Given the description of an element on the screen output the (x, y) to click on. 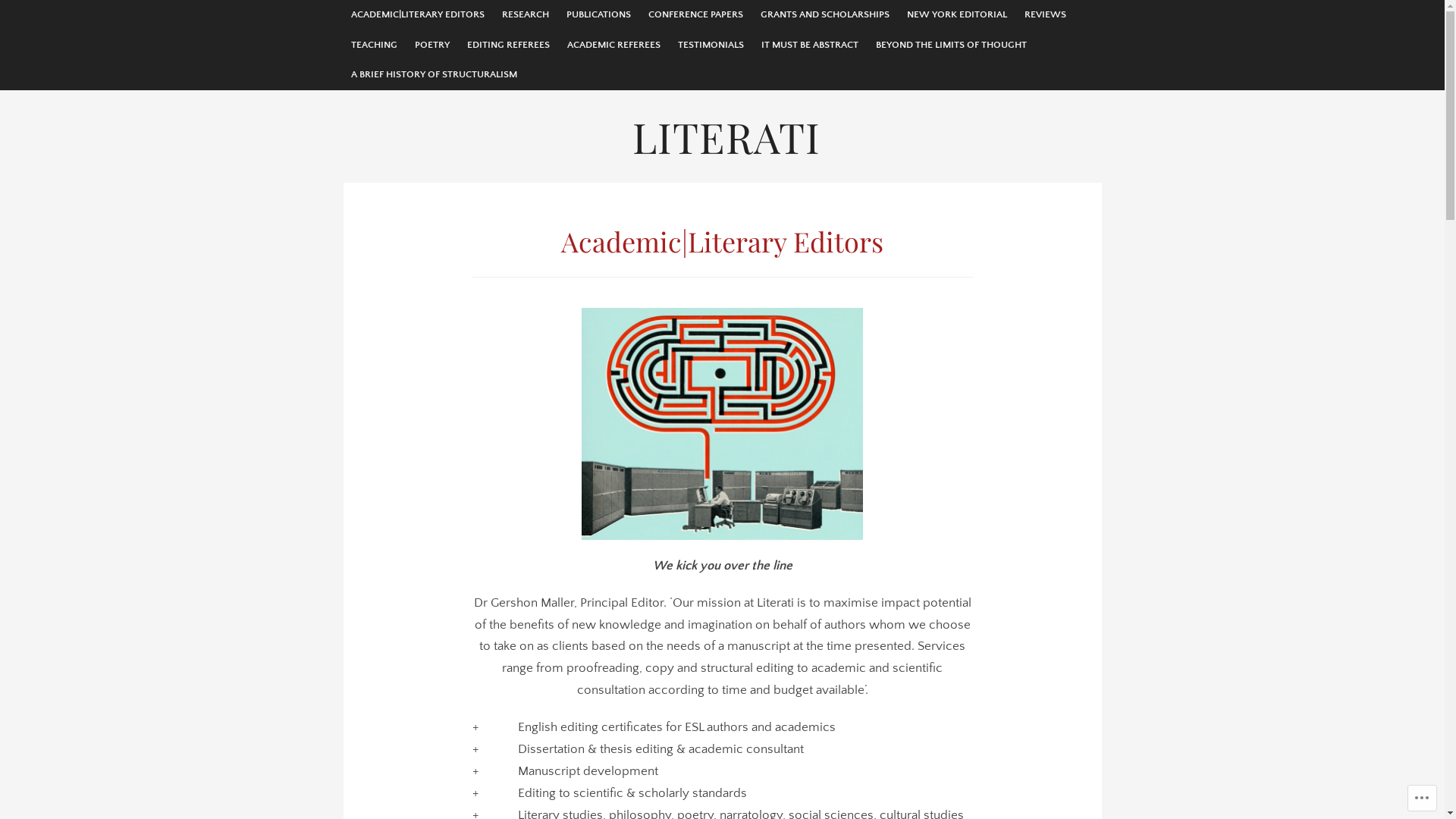
POETRY Element type: text (431, 45)
NEW YORK EDITORIAL Element type: text (956, 14)
ACADEMIC REFEREES Element type: text (613, 45)
A BRIEF HISTORY OF STRUCTURALISM Element type: text (433, 74)
EDITING REFEREES Element type: text (508, 45)
IT MUST BE ABSTRACT Element type: text (809, 45)
GRANTS AND SCHOLARSHIPS Element type: text (823, 14)
BEYOND THE LIMITS OF THOUGHT Element type: text (950, 45)
CONFERENCE PAPERS Element type: text (694, 14)
LITERATI Element type: text (726, 135)
TESTIMONIALS Element type: text (710, 45)
ACADEMIC|LITERARY EDITORS Element type: text (416, 14)
REVIEWS Element type: text (1044, 14)
PUBLICATIONS Element type: text (597, 14)
RESEARCH Element type: text (525, 14)
TEACHING Element type: text (373, 45)
